Given the description of an element on the screen output the (x, y) to click on. 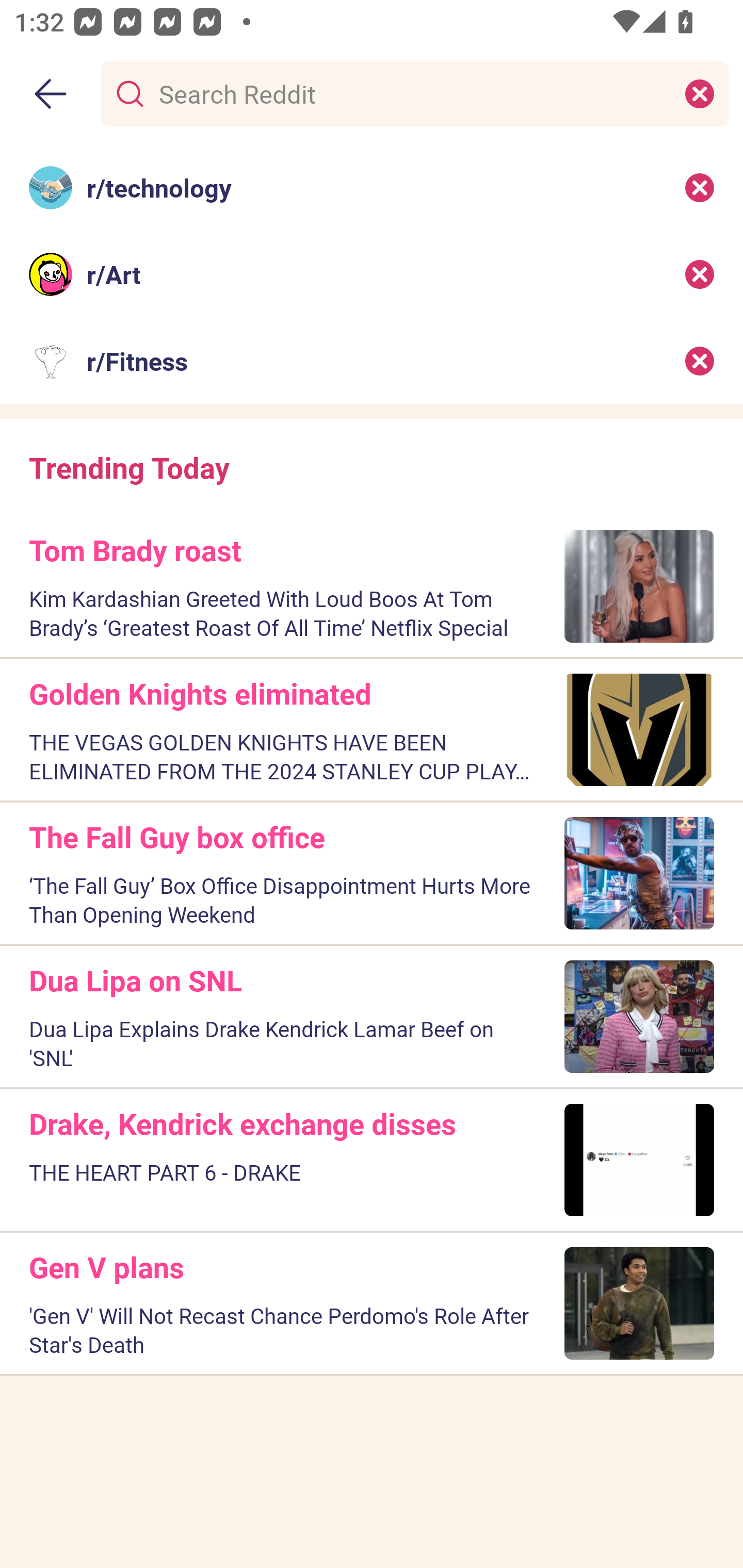
Back (50, 93)
Search Reddit (410, 93)
Clear search (699, 93)
r/technology Recent search: r/technology Remove (371, 187)
Remove (699, 187)
r/Art Recent search: r/Art Remove (371, 274)
Remove (699, 274)
r/Fitness Recent search: r/Fitness Remove (371, 361)
Remove (699, 361)
